Given the description of an element on the screen output the (x, y) to click on. 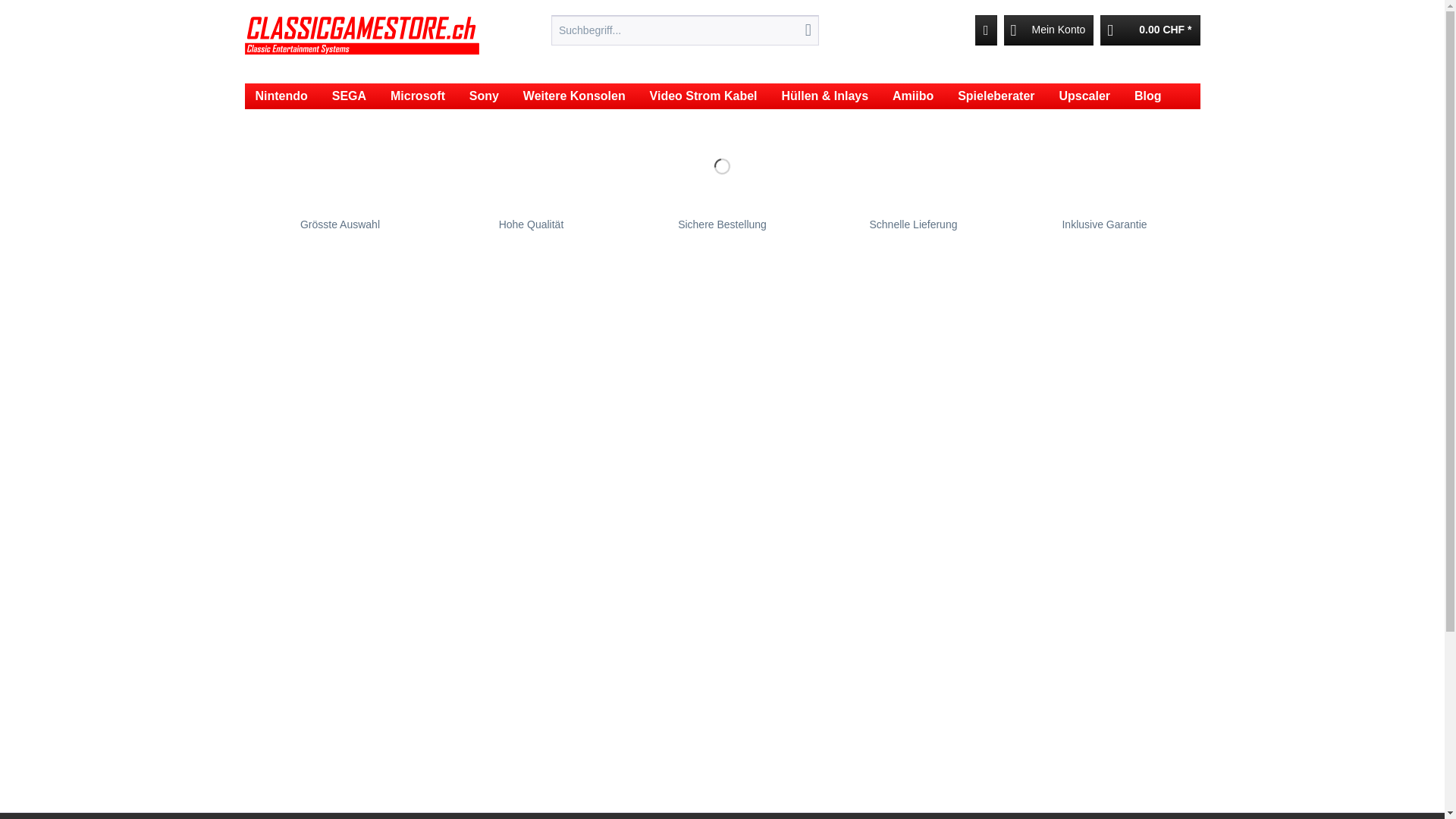
0.00 CHF * Element type: text (1149, 30)
Classicgamestore.ch - zur Startseite wechseln Element type: hover (361, 45)
Blog Element type: text (1147, 96)
Merkzettel Element type: hover (986, 30)
SEGA Element type: text (348, 96)
Spieleberater Element type: text (995, 96)
Amiibo Element type: text (912, 96)
Video Strom Kabel Element type: text (703, 96)
Weitere Konsolen Element type: text (574, 96)
Mein Konto Element type: text (1049, 30)
Nintendo Element type: text (280, 96)
Microsoft Element type: text (417, 96)
Upscaler Element type: text (1084, 96)
Sony Element type: text (483, 96)
